Given the description of an element on the screen output the (x, y) to click on. 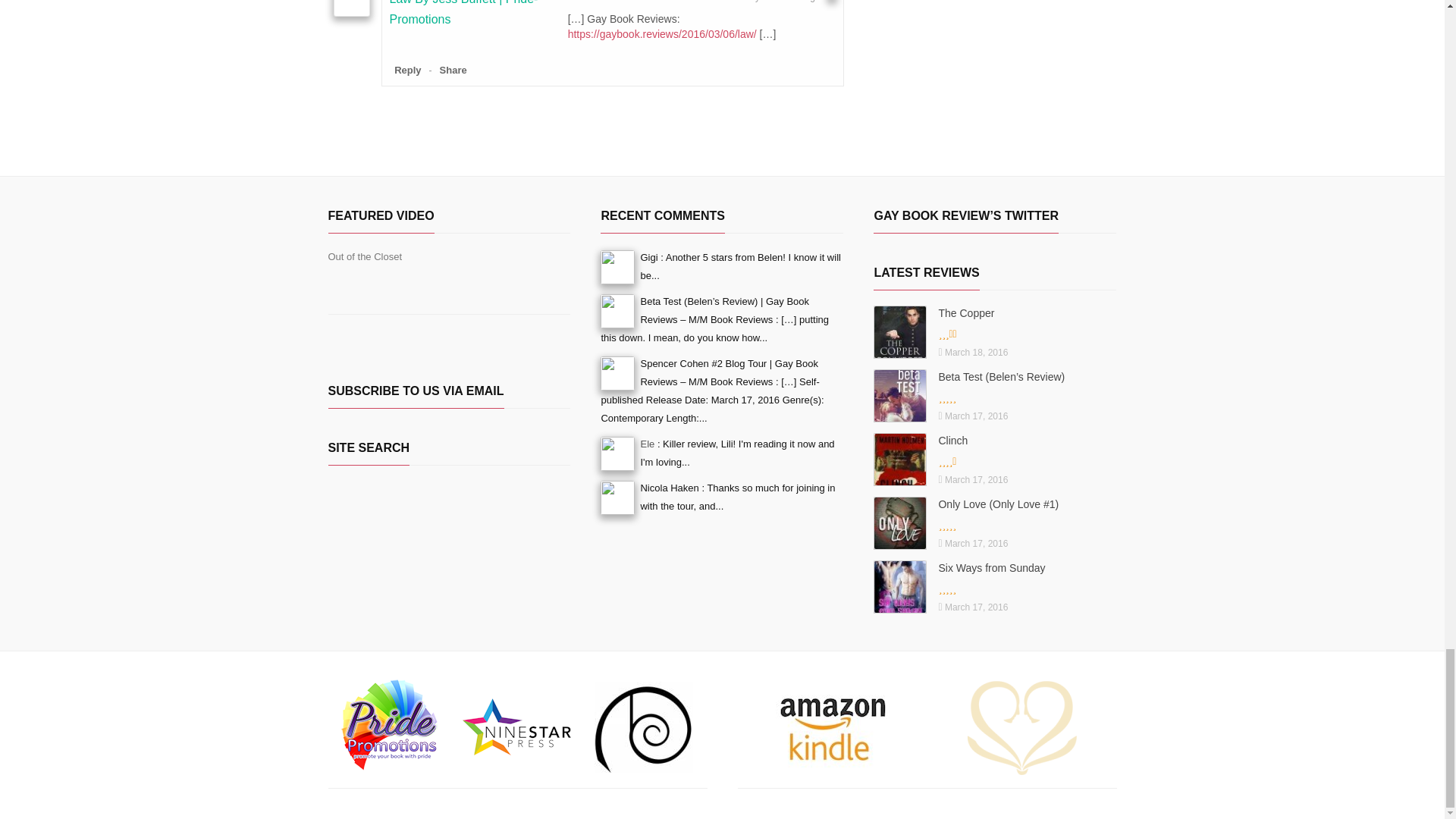
Reply (407, 70)
Share (453, 70)
